Given the description of an element on the screen output the (x, y) to click on. 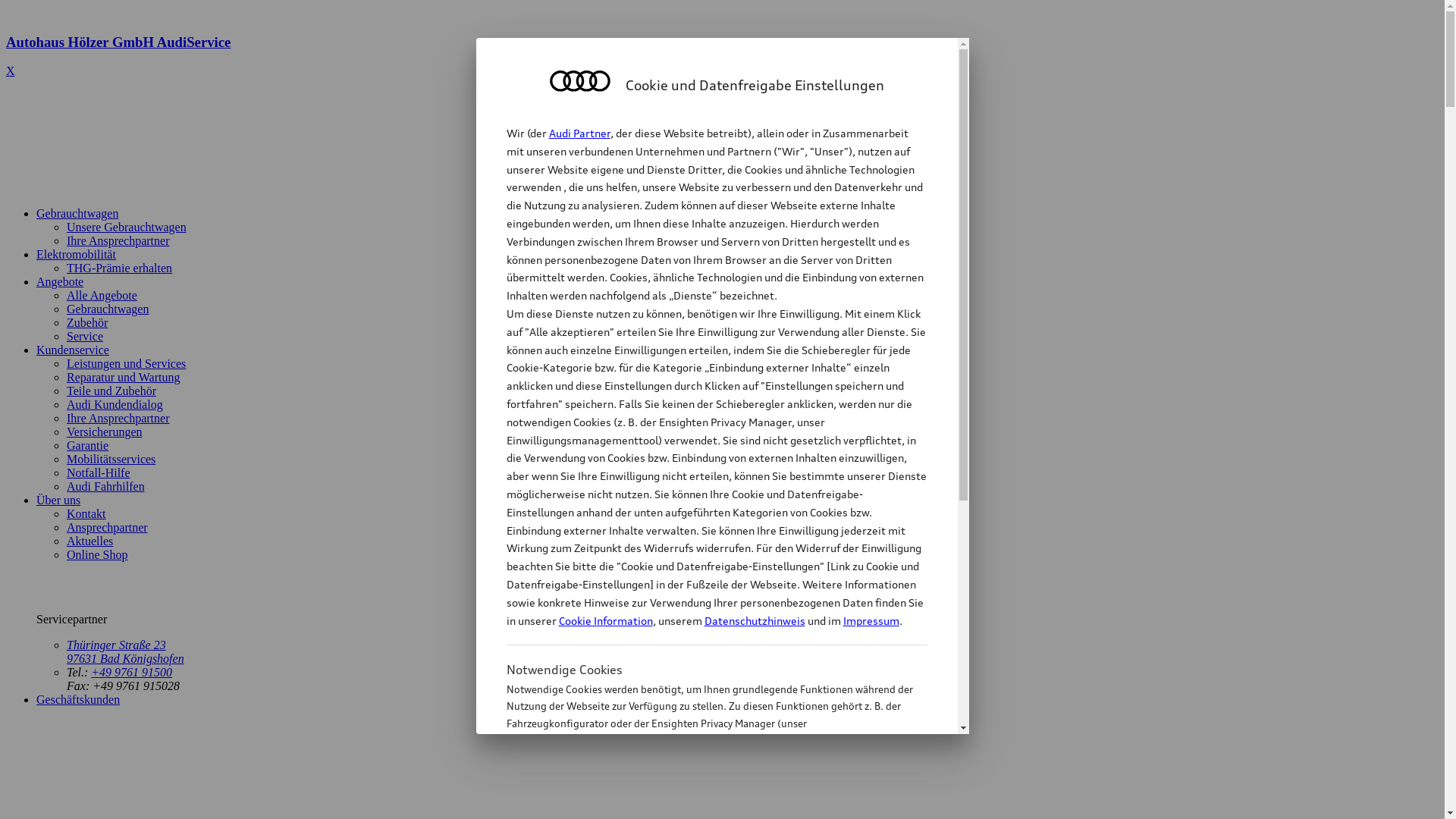
Cookie Information Element type: text (700, 798)
Ansprechpartner Element type: text (106, 526)
+49 9761 91500 Element type: text (131, 671)
Audi Kundendialog Element type: text (114, 404)
Ihre Ansprechpartner Element type: text (117, 417)
Alle Angebote Element type: text (101, 294)
Ihre Ansprechpartner Element type: text (117, 240)
Versicherungen Element type: text (104, 431)
Kontakt Element type: text (86, 513)
Garantie Element type: text (87, 445)
Angebote Element type: text (59, 281)
Leistungen und Services Element type: text (125, 363)
Reparatur und Wartung Element type: text (122, 376)
Service Element type: text (84, 335)
Notfall-Hilfe Element type: text (98, 472)
Unsere Gebrauchtwagen Element type: text (126, 226)
Audi Fahrhilfen Element type: text (105, 486)
Gebrauchtwagen Element type: text (77, 213)
Cookie Information Element type: text (605, 620)
Audi Partner Element type: text (579, 132)
Gebrauchtwagen Element type: text (107, 308)
Online Shop Element type: text (96, 554)
Impressum Element type: text (871, 620)
Kundenservice Element type: text (72, 349)
Aktuelles Element type: text (89, 540)
X Element type: text (10, 70)
Datenschutzhinweis Element type: text (753, 620)
